Given the description of an element on the screen output the (x, y) to click on. 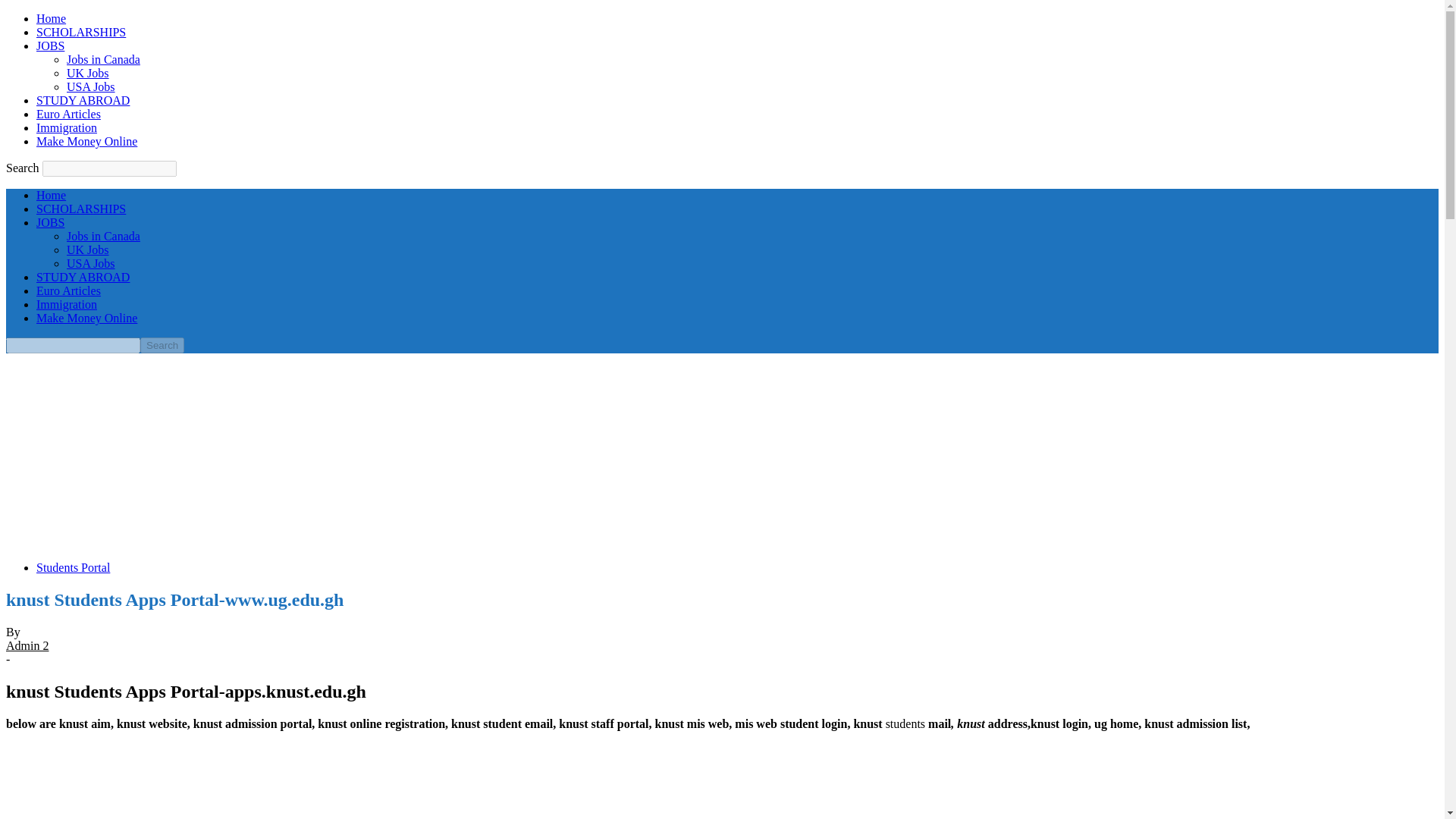
STUDY ABROAD (82, 277)
Make Money Online (86, 318)
Home (50, 195)
JOBS (50, 222)
Search (161, 344)
USA Jobs (90, 86)
Immigration (66, 127)
UK Jobs (87, 72)
Search (161, 344)
USA Jobs (90, 263)
Admin 2 (26, 645)
JOBS (50, 45)
STUDY ABROAD (82, 100)
SCHOLARSHIPS (80, 208)
Make Money Online (86, 141)
